Given the description of an element on the screen output the (x, y) to click on. 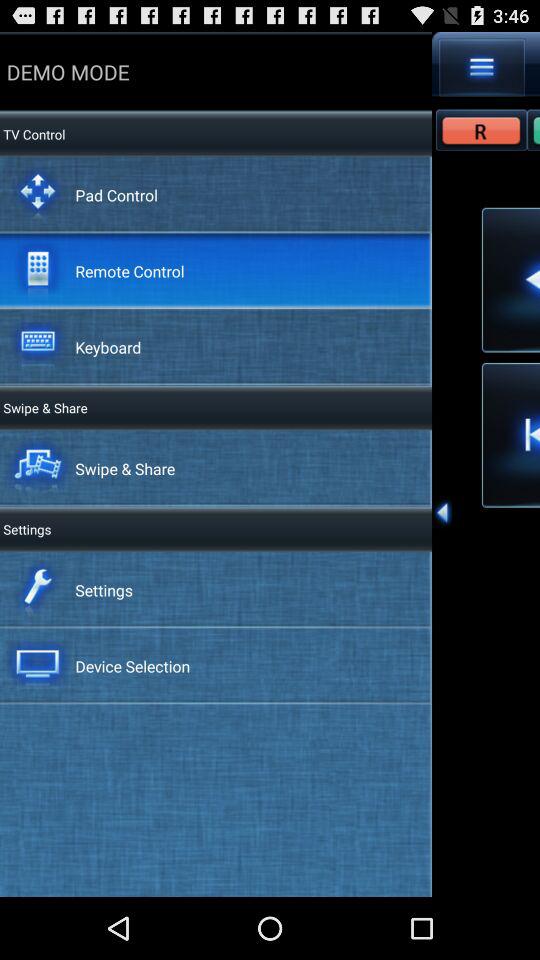
choose remote control icon (129, 270)
